Given the description of an element on the screen output the (x, y) to click on. 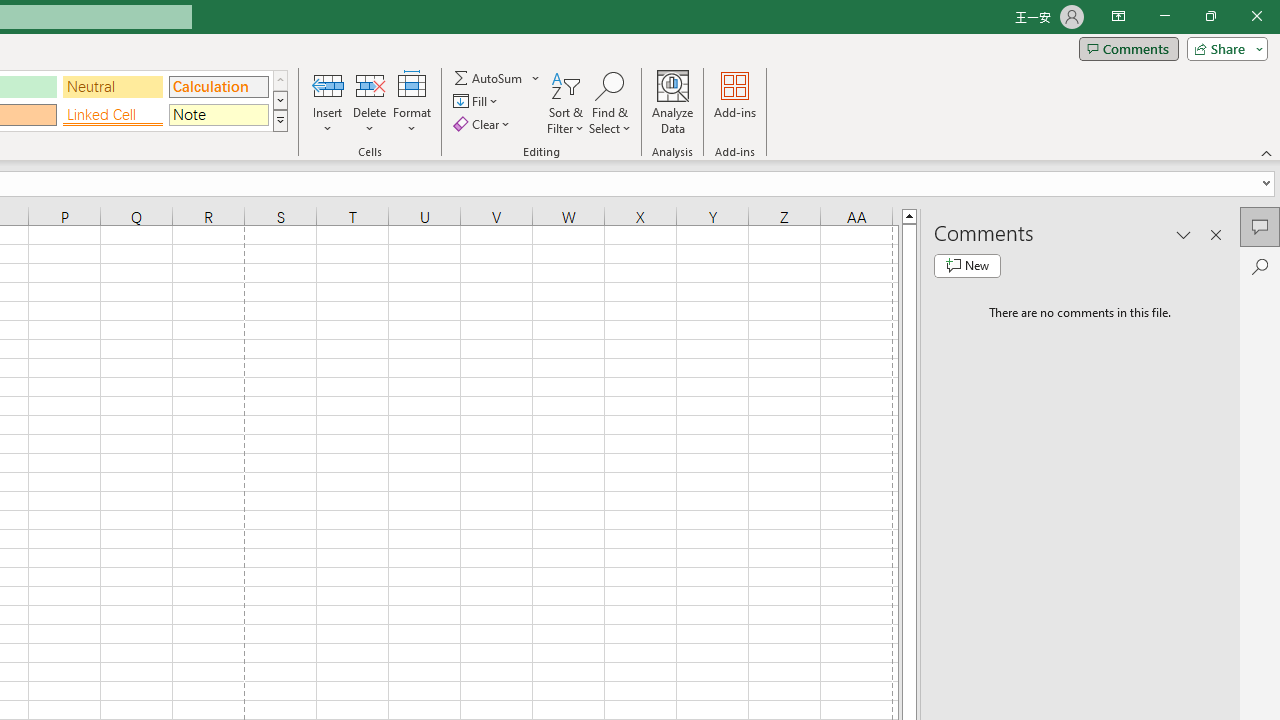
Cell Styles (280, 120)
Insert Cells (328, 84)
Format (411, 102)
Delete Cells... (369, 84)
AutoSum (497, 78)
Fill (477, 101)
Find & Select (610, 102)
Sum (489, 78)
Note (218, 114)
